Given the description of an element on the screen output the (x, y) to click on. 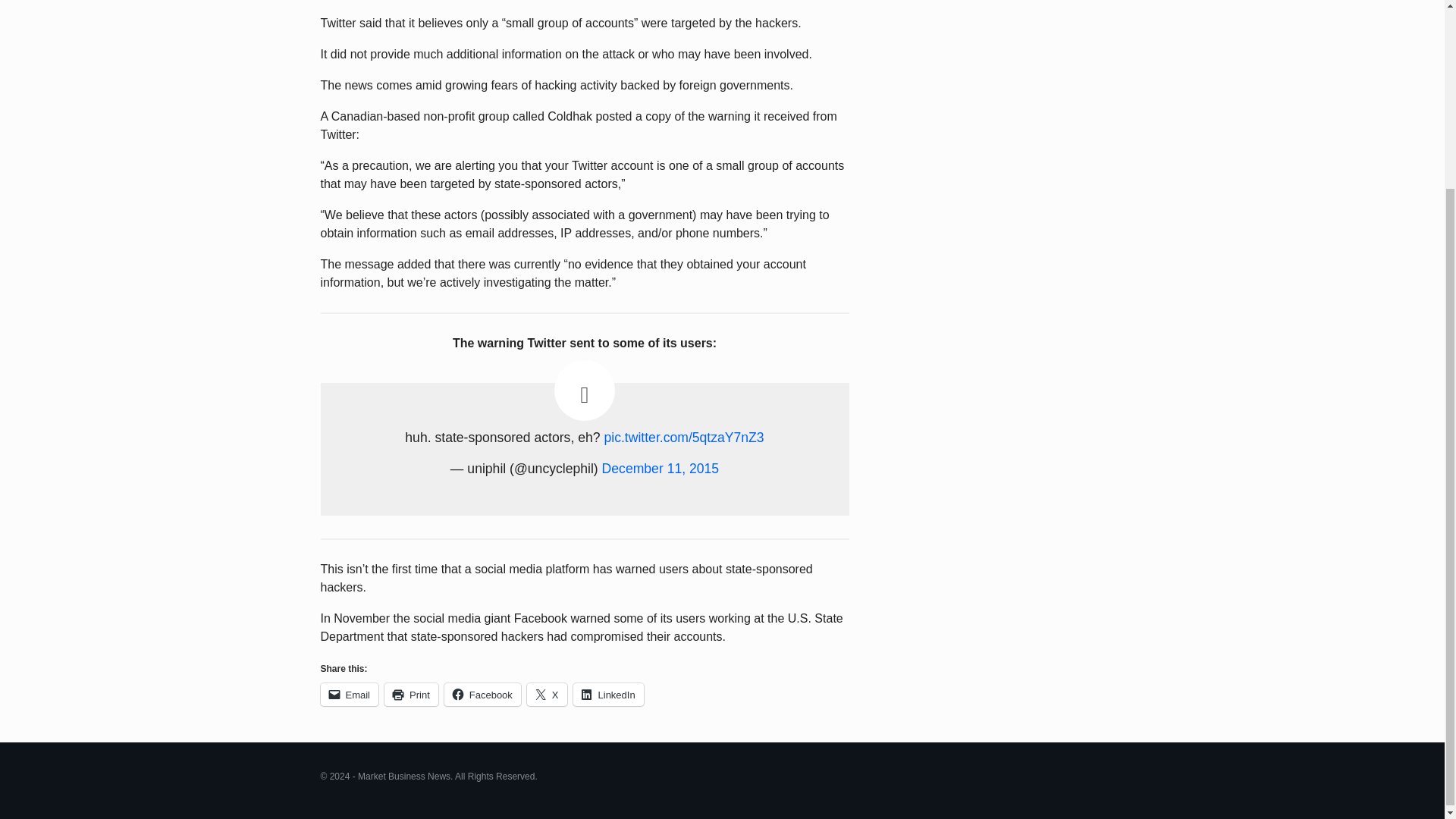
Click to share on LinkedIn (608, 694)
Click to share on Facebook (482, 694)
Print (411, 694)
Click to email a link to a friend (349, 694)
Email (349, 694)
December 11, 2015 (660, 468)
Click to share on X (547, 694)
LinkedIn (608, 694)
Facebook (482, 694)
X (547, 694)
Click to print (411, 694)
